Given the description of an element on the screen output the (x, y) to click on. 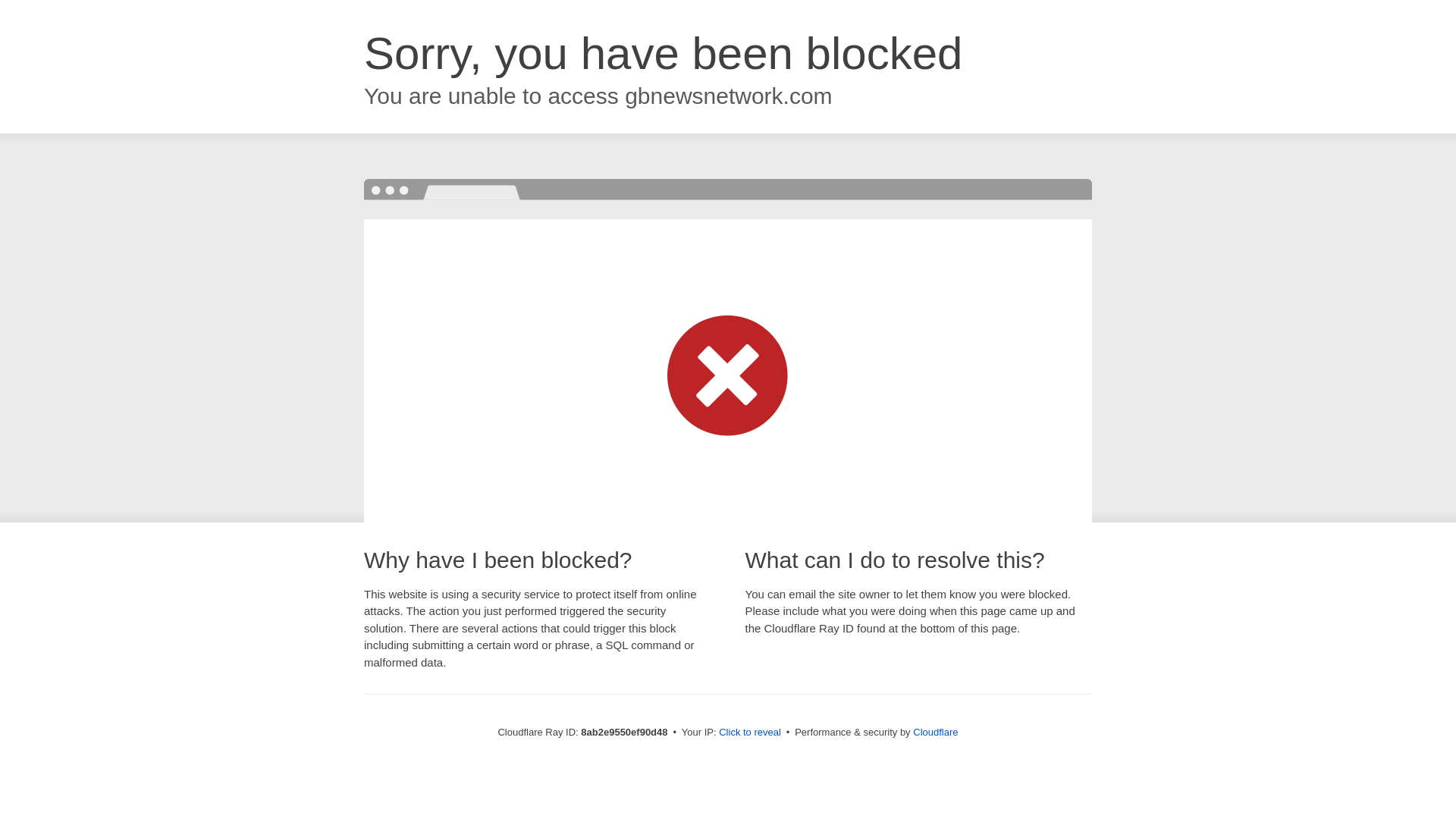
Cloudflare (935, 731)
Click to reveal (749, 732)
